Given the description of an element on the screen output the (x, y) to click on. 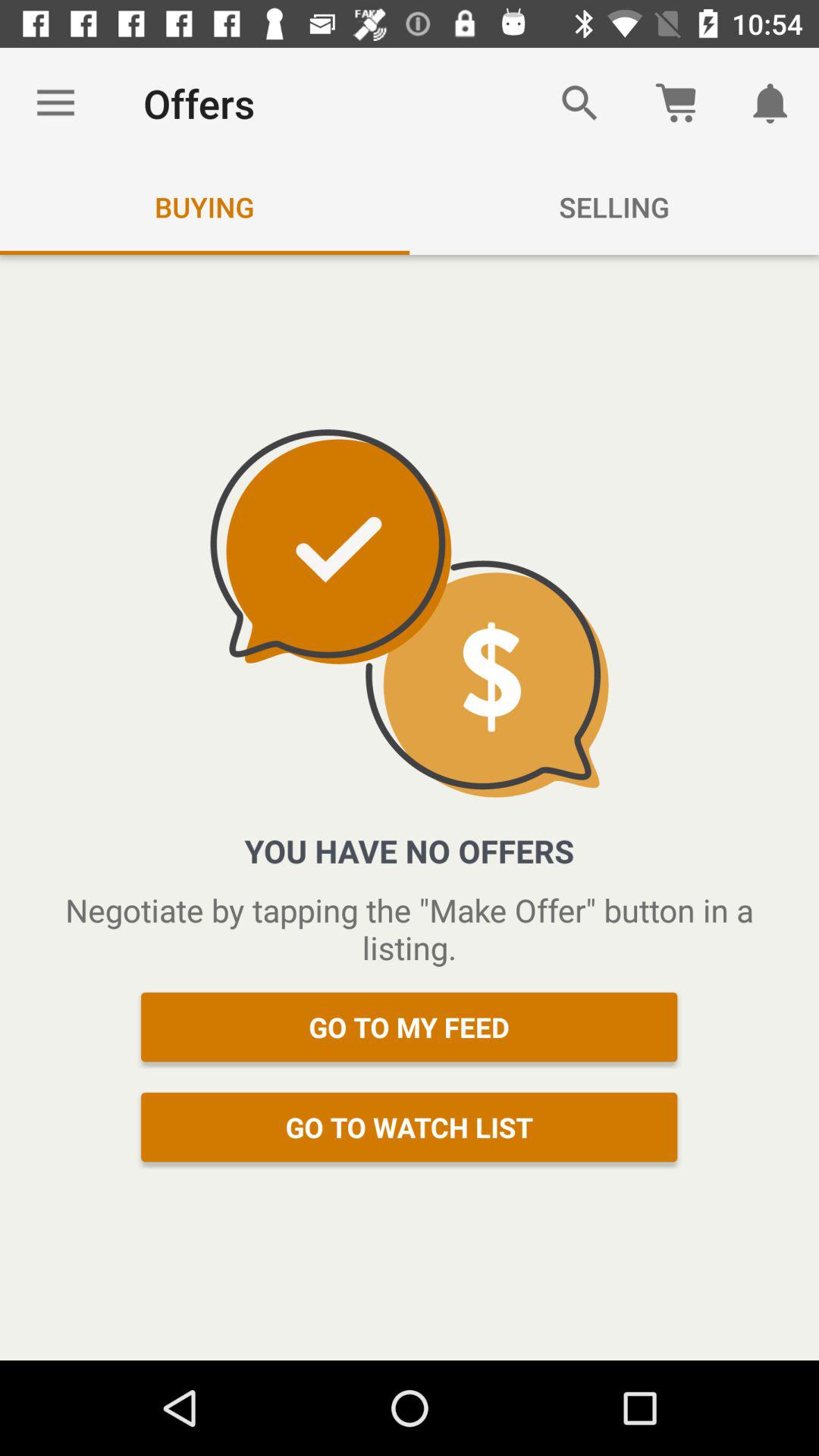
select icon above selling icon (579, 103)
